Given the description of an element on the screen output the (x, y) to click on. 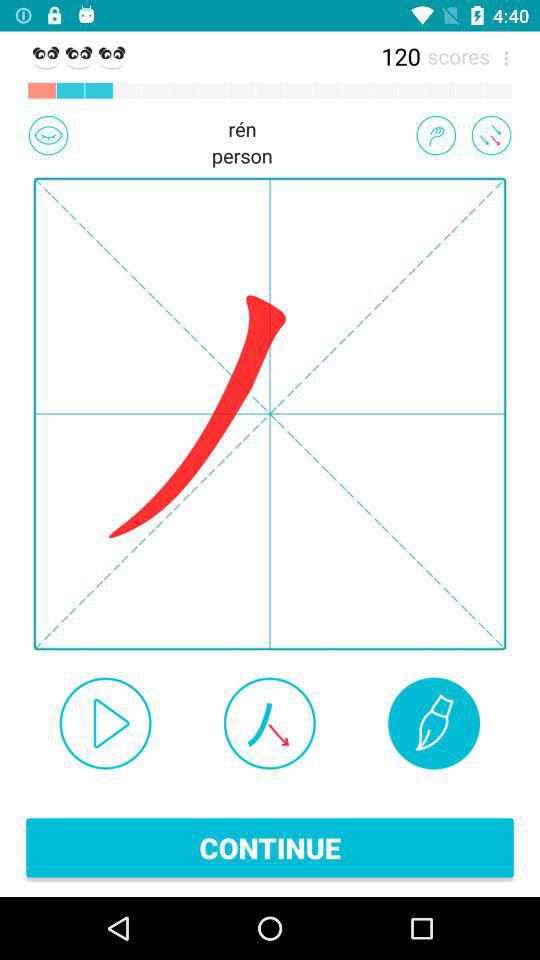
click the icon above continue icon (105, 723)
